Given the description of an element on the screen output the (x, y) to click on. 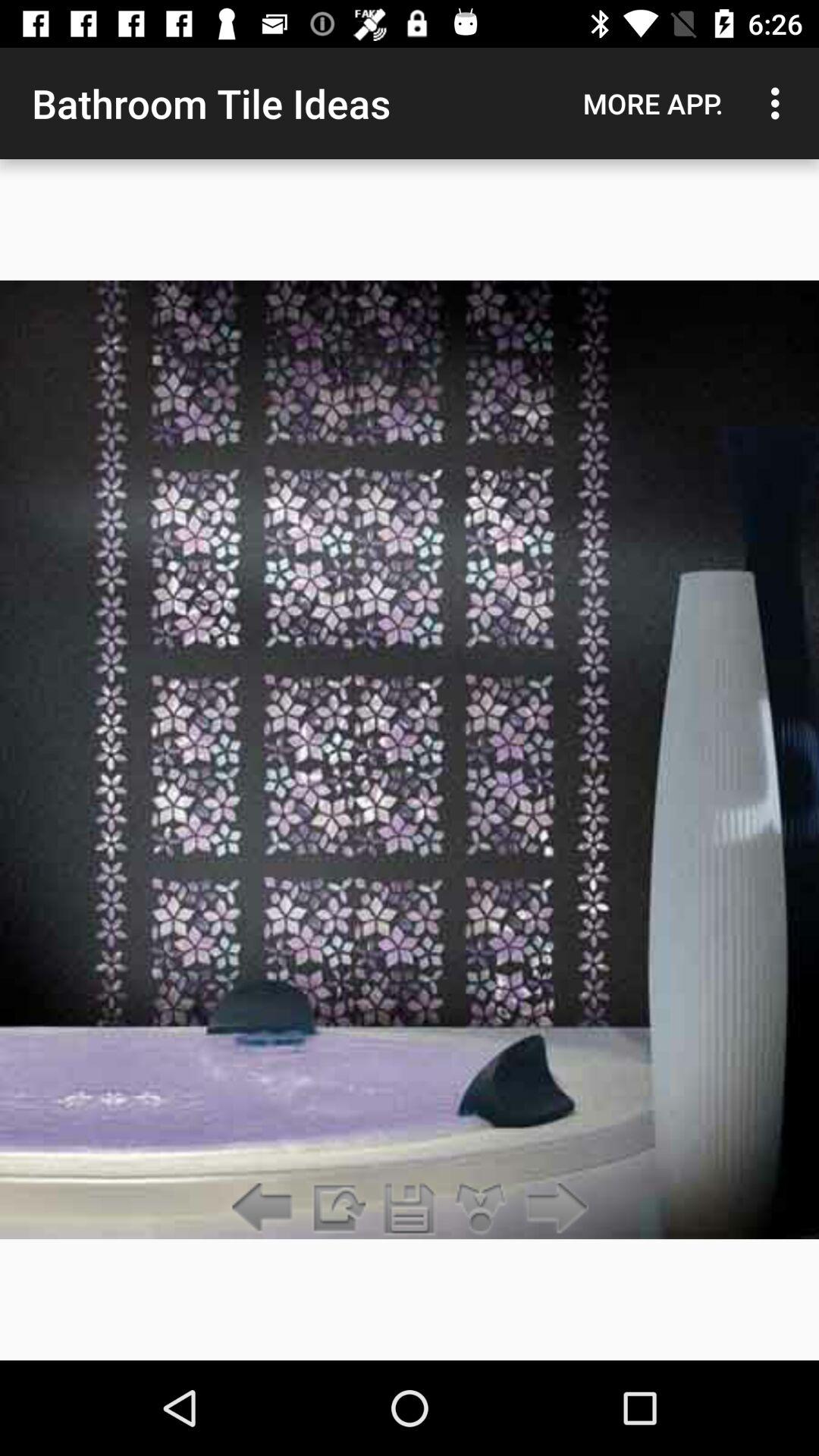
launch the item at the bottom right corner (552, 1209)
